Given the description of an element on the screen output the (x, y) to click on. 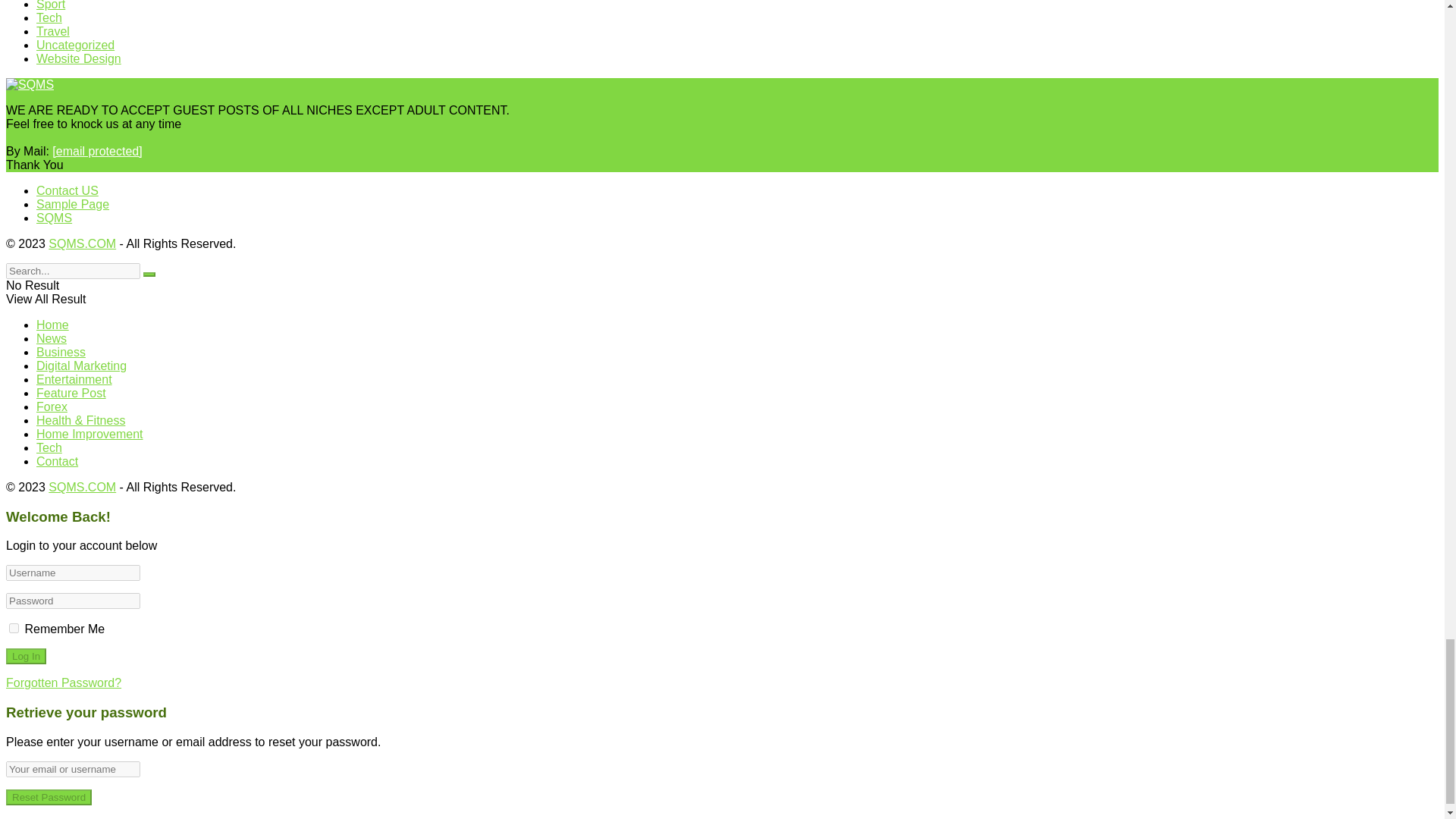
true (13, 628)
Log In (25, 656)
Reset Password (48, 797)
